Given the description of an element on the screen output the (x, y) to click on. 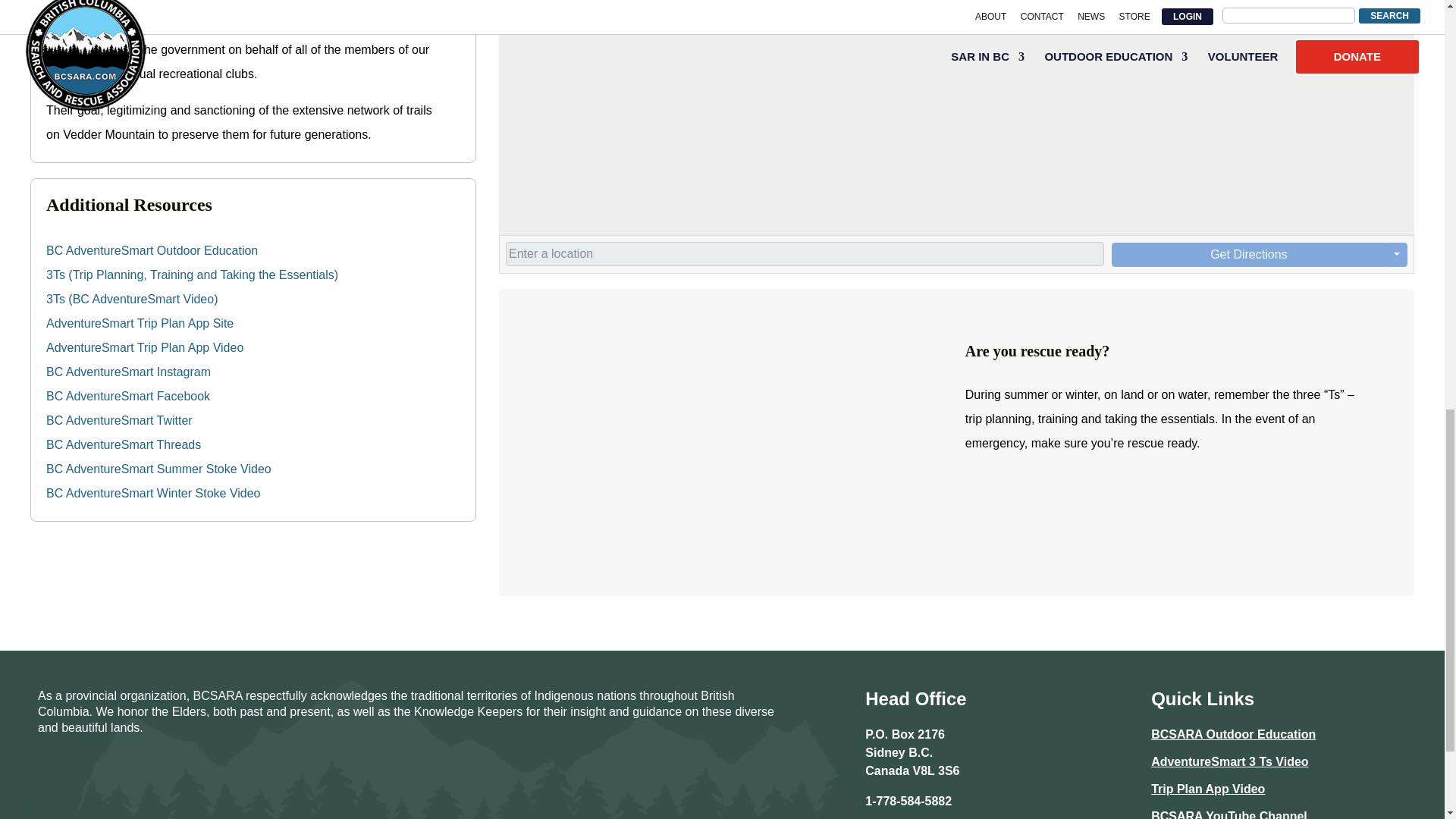
AdventureSmart Trip Plan App Video (144, 347)
BC AdventureSmart Facebook (127, 395)
BC AdventureSmart Outdoor Education (151, 250)
BC AdventureSmart Twitter (119, 420)
AdventureSmart Trip Plan App Site (139, 323)
BC AdventureSmart Instagram (128, 371)
BC AdventureSmart Threads (123, 444)
